Given the description of an element on the screen output the (x, y) to click on. 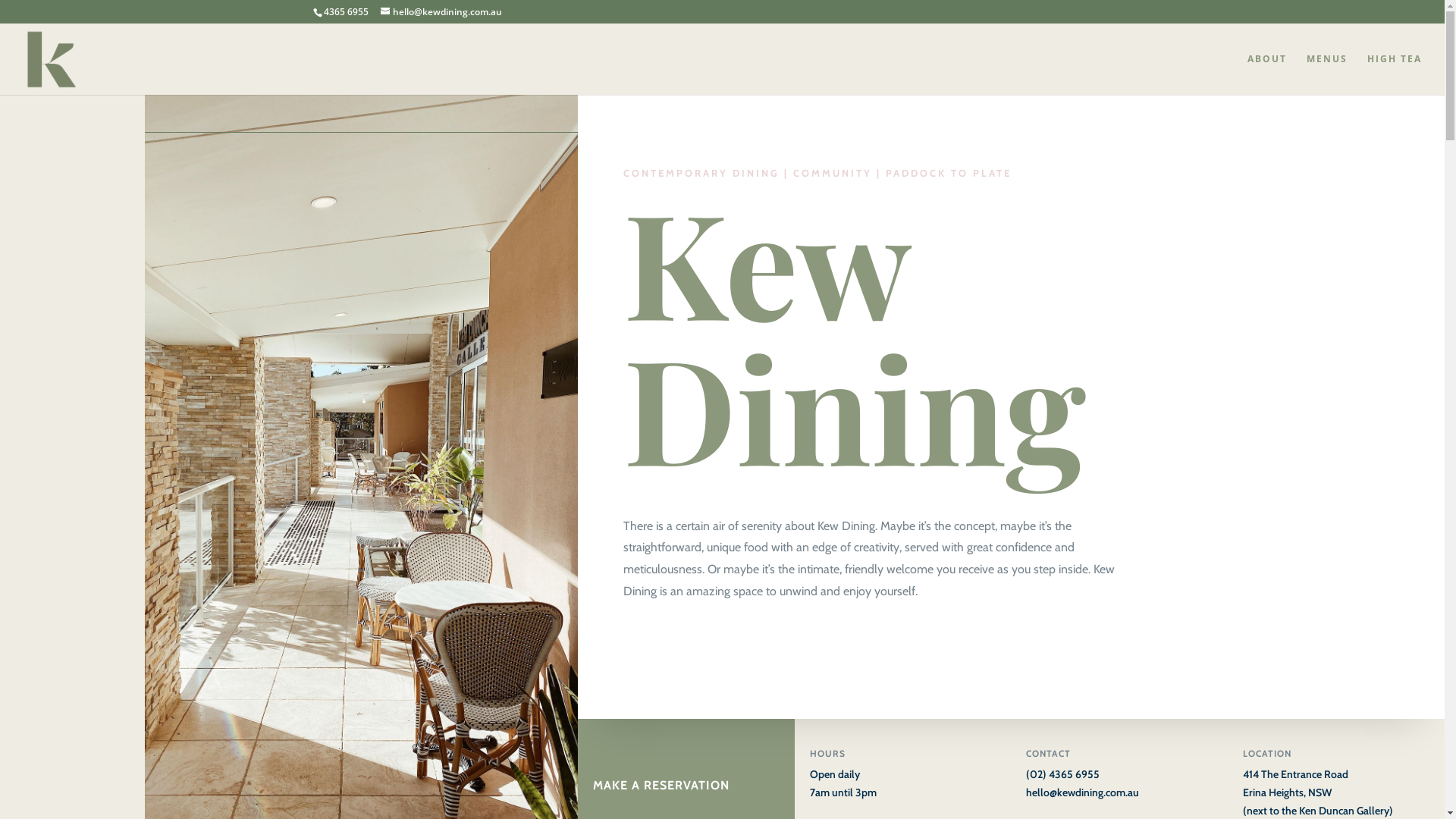
ABOUT Element type: text (1266, 73)
hello@kewdining.com.au Element type: text (1082, 792)
(02) 4365 6955 Element type: text (1062, 774)
MENUS Element type: text (1326, 73)
HIGH TEA Element type: text (1394, 73)
hello@kewdining.com.au Element type: text (441, 11)
MAKE A RESERVATION Element type: text (660, 758)
